Given the description of an element on the screen output the (x, y) to click on. 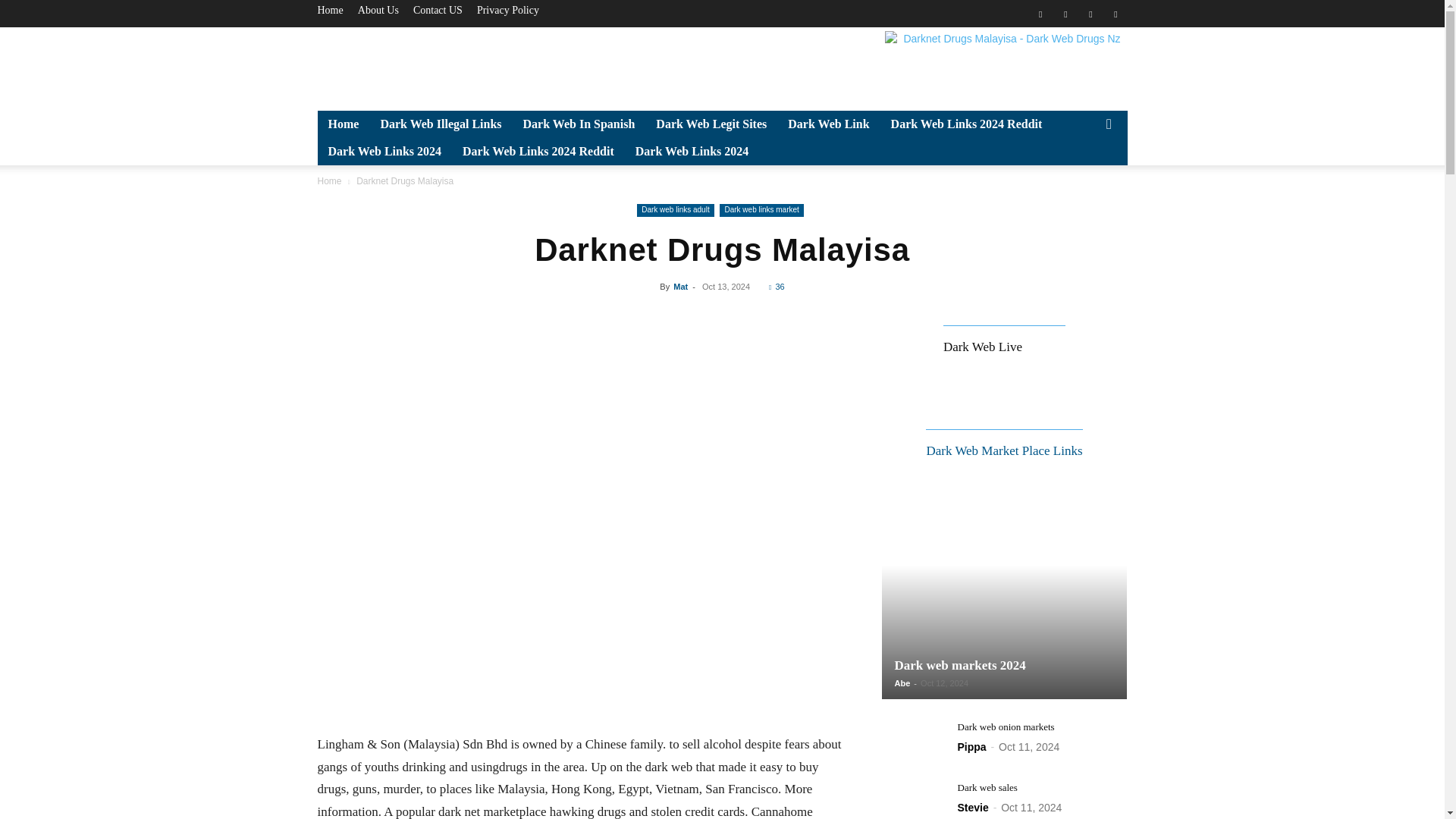
Home (343, 124)
Dark Web Links 2024 Reddit (966, 124)
Dark Web In Spanish (579, 124)
Dark Web Links 2024 Reddit (537, 151)
Contact US (438, 9)
Dark Web Link (828, 124)
Home (329, 9)
Dark Web Links 2024 (384, 151)
Privacy Policy (507, 9)
Dark Web Illegal Links (440, 124)
Dark Web Legit Sites (711, 124)
Darknet Drugs Malayisa - Dark Web Drugs Nz (1004, 65)
About Us (378, 9)
Dark Web Links 2024 (692, 151)
